Given the description of an element on the screen output the (x, y) to click on. 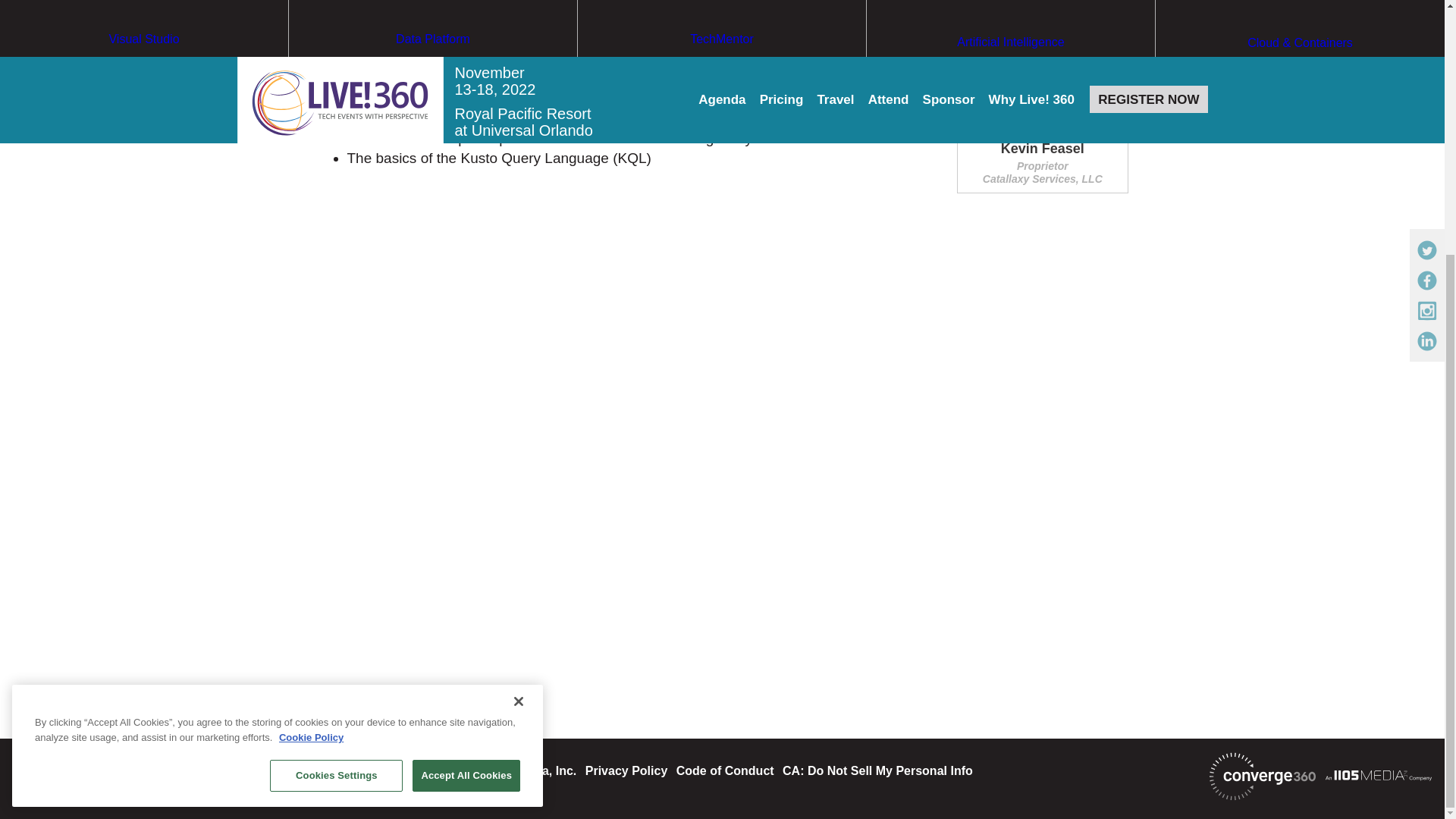
Live Chat Button (1414, 427)
